Given the description of an element on the screen output the (x, y) to click on. 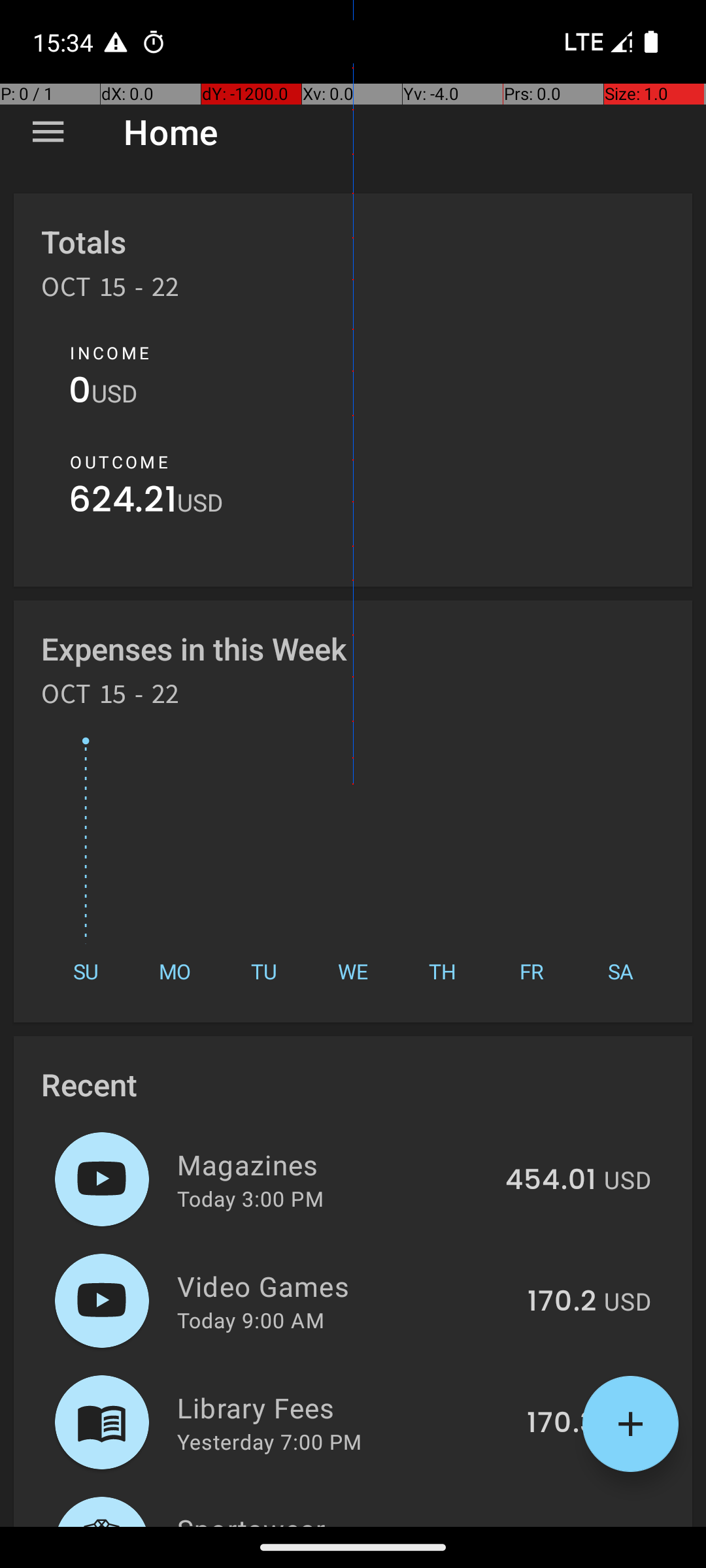
624.21 Element type: android.widget.TextView (122, 502)
Magazines Element type: android.widget.TextView (333, 1164)
Today 3:00 PM Element type: android.widget.TextView (250, 1198)
454.01 Element type: android.widget.TextView (550, 1180)
Video Games Element type: android.widget.TextView (344, 1285)
Today 9:00 AM Element type: android.widget.TextView (250, 1320)
170.2 Element type: android.widget.TextView (561, 1301)
Library Fees Element type: android.widget.TextView (344, 1407)
Yesterday 7:00 PM Element type: android.widget.TextView (269, 1441)
170.3 Element type: android.widget.TextView (561, 1423)
Sportswear Element type: android.widget.TextView (331, 1518)
235.48 Element type: android.widget.TextView (548, 1524)
